Given the description of an element on the screen output the (x, y) to click on. 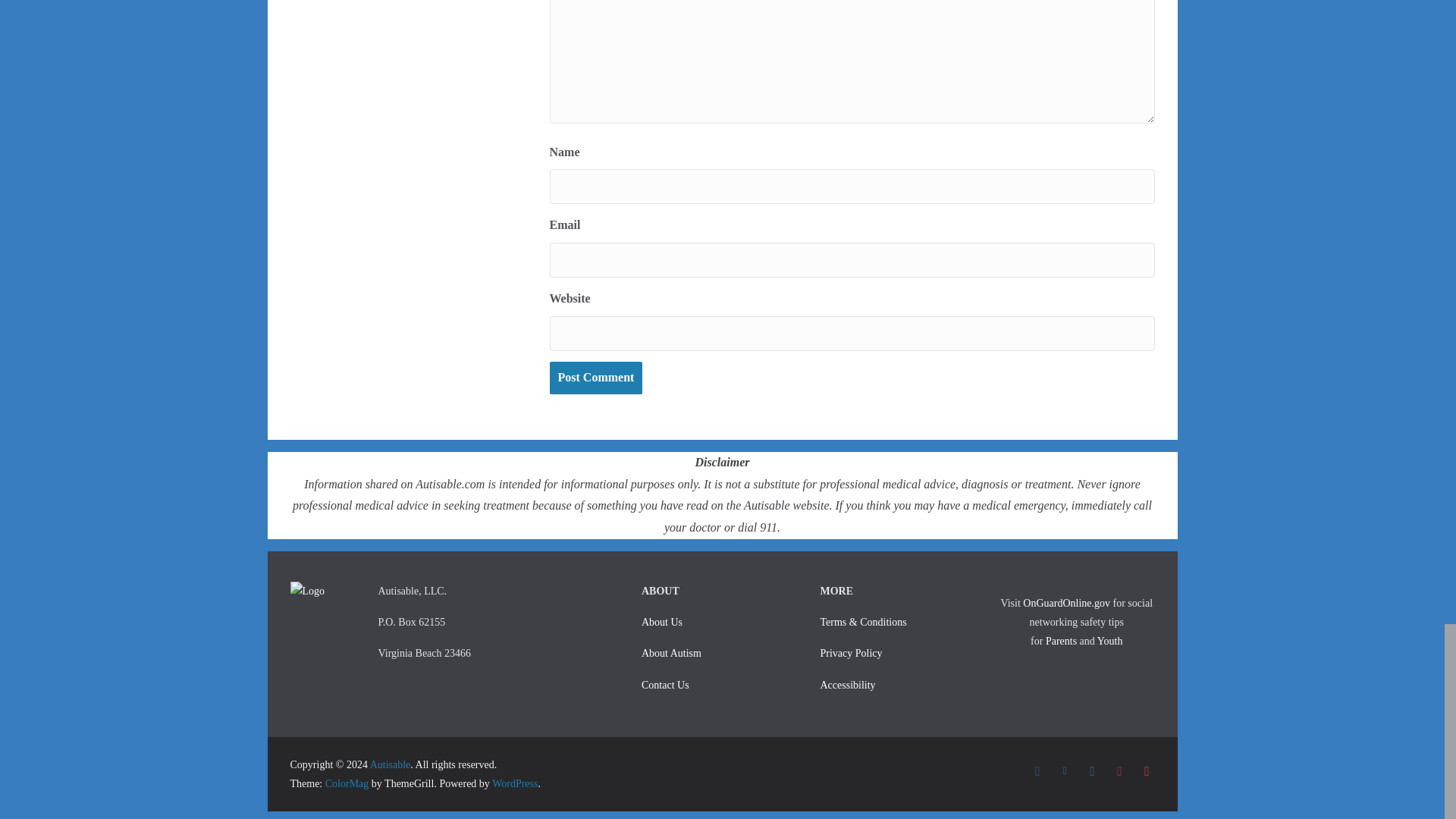
Post Comment (595, 377)
